Given the description of an element on the screen output the (x, y) to click on. 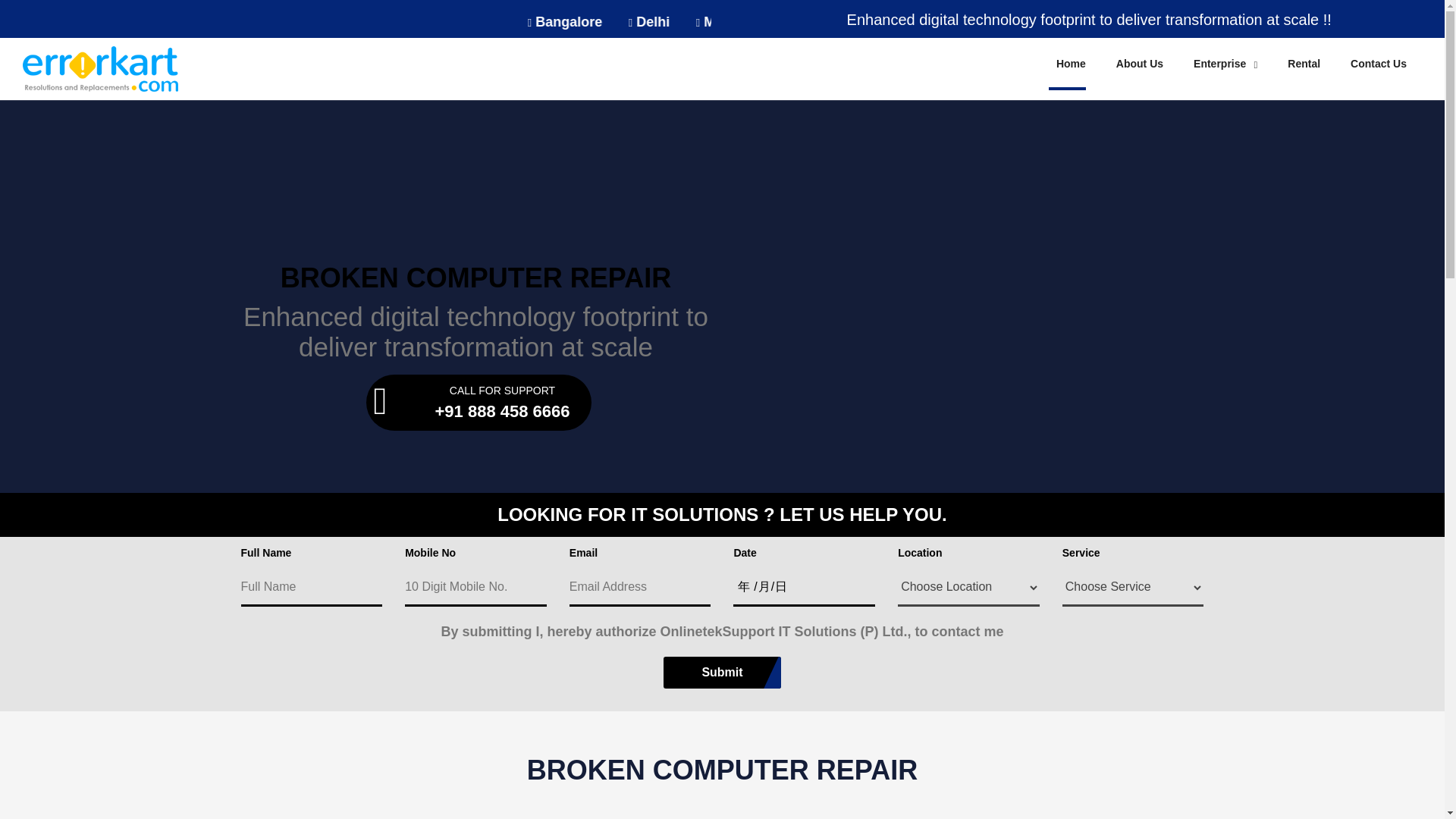
Enterprise (1225, 63)
Contact Us (1378, 63)
Errorkart (100, 68)
About Us (1139, 63)
Submit (721, 672)
